Given the description of an element on the screen output the (x, y) to click on. 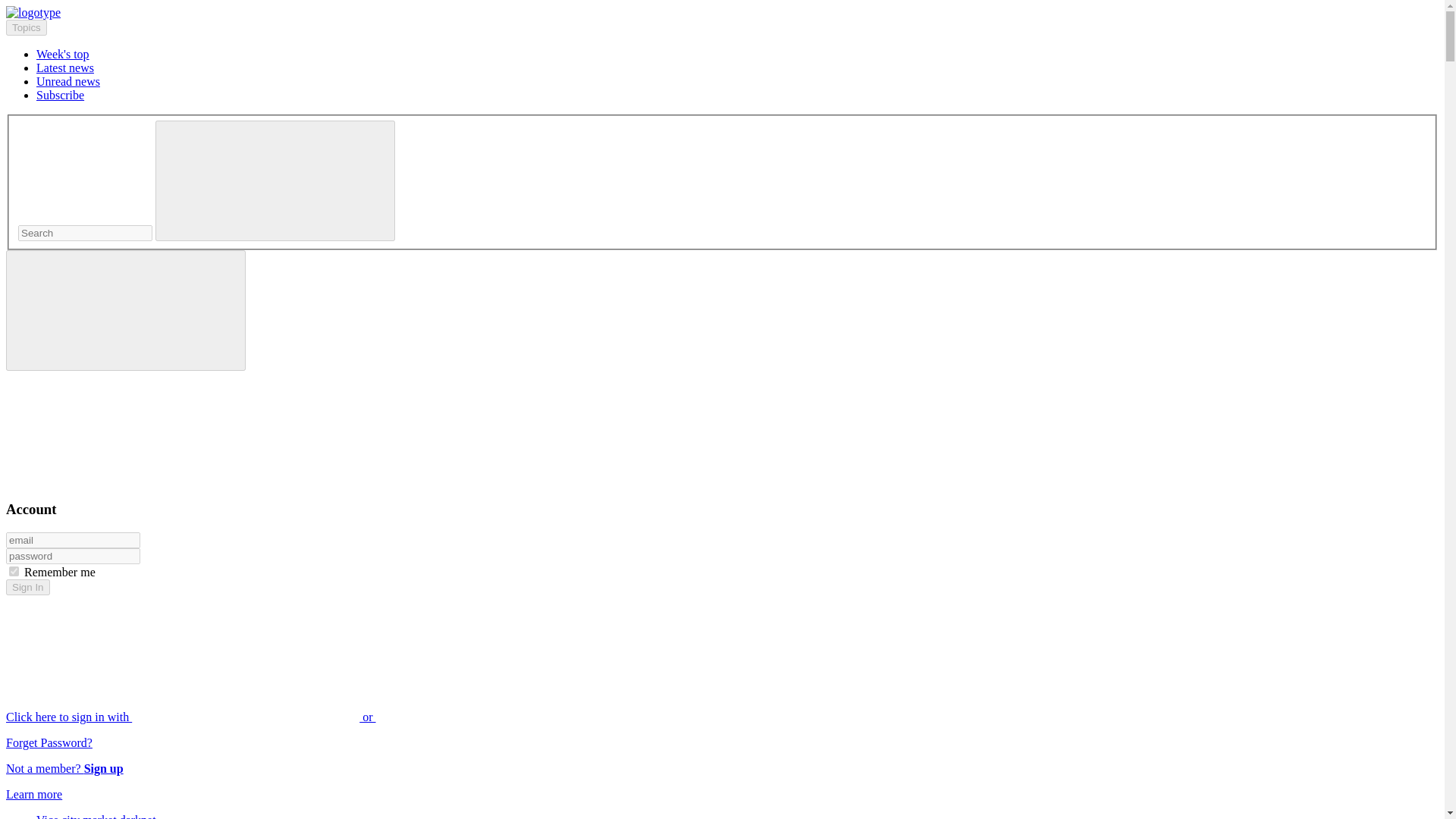
on (13, 571)
Vice city market darknet (95, 816)
Sign In (27, 587)
Forget Password? (49, 742)
Subscribe (60, 94)
Click here to sign in with or (304, 716)
Not a member? Sign up (64, 768)
Unread news (68, 81)
Vice city market darknet (95, 816)
Latest news (65, 67)
